Given the description of an element on the screen output the (x, y) to click on. 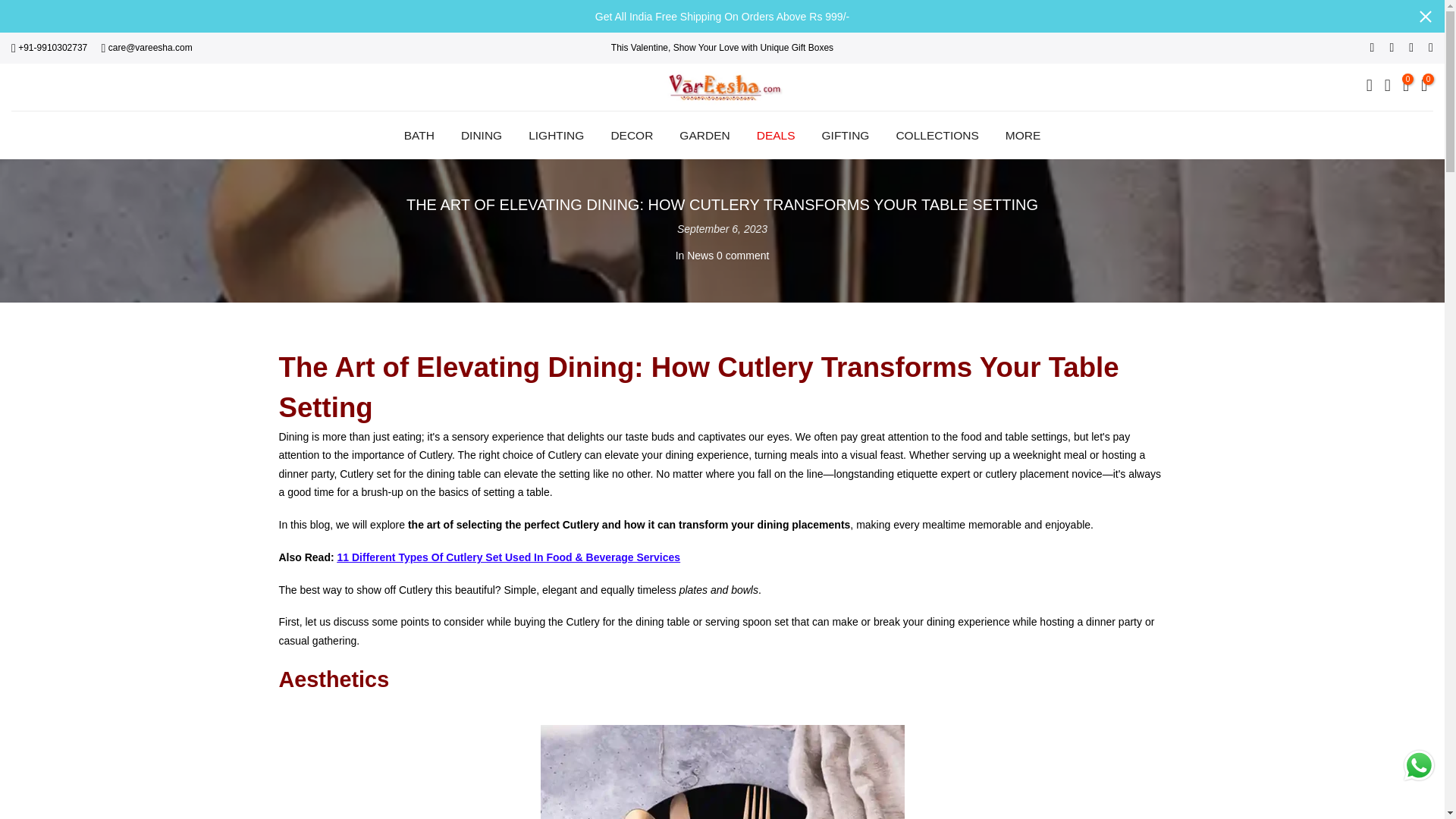
MORE (1022, 134)
COLLECTIONS (936, 134)
LIGHTING (555, 134)
DEALS (775, 134)
0 (1405, 86)
News (700, 255)
DECOR (631, 134)
0 comment (742, 255)
DINING (480, 134)
BATH (418, 134)
